Given the description of an element on the screen output the (x, y) to click on. 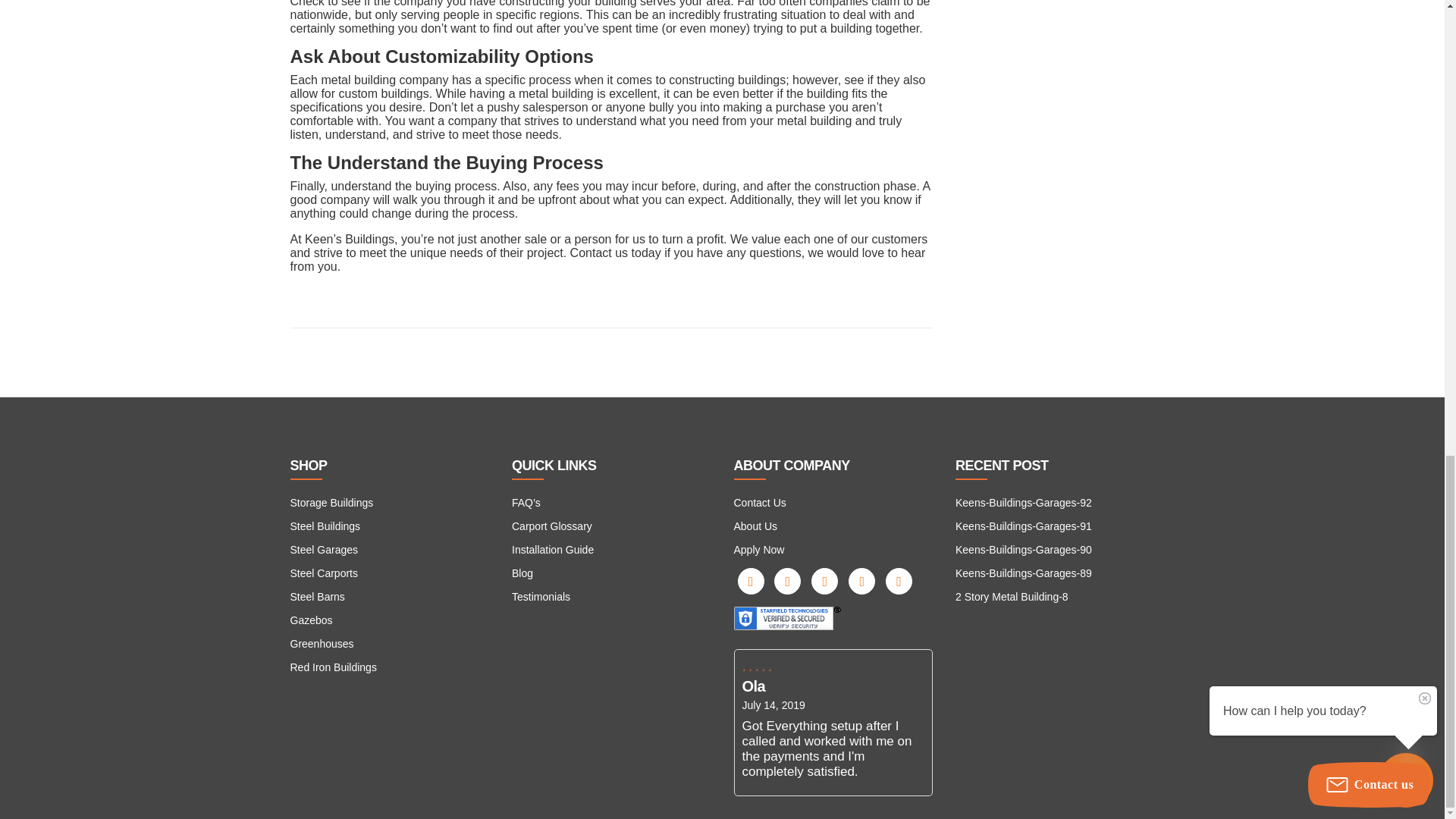
Steel Carports (322, 573)
Storage Buildings (330, 502)
Steel Buildings (324, 526)
Steel Garages (323, 549)
